Given the description of an element on the screen output the (x, y) to click on. 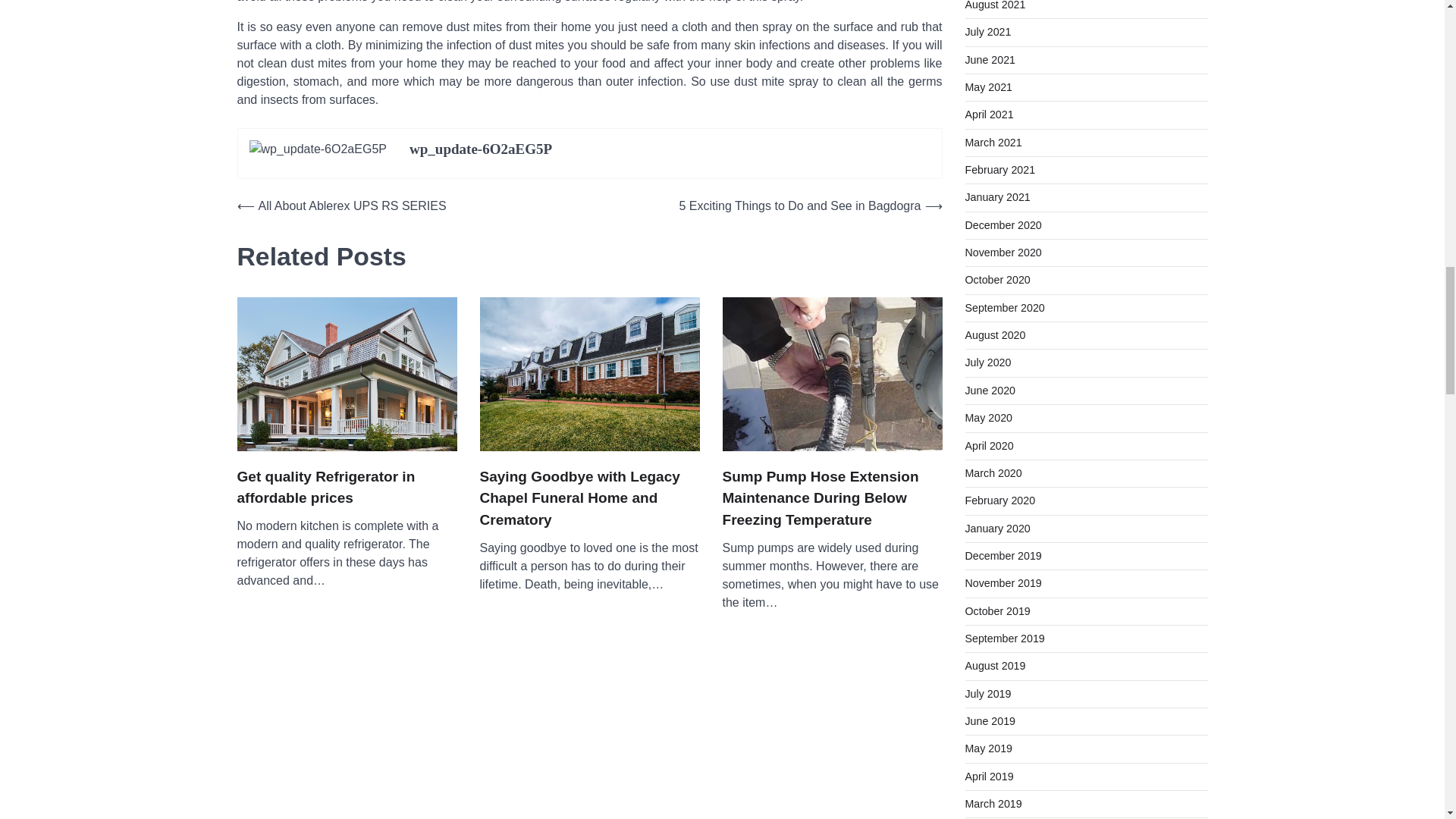
Get quality Refrigerator in affordable prices (346, 487)
Saying Goodbye with Legacy Chapel Funeral Home and Crematory (588, 498)
